Given the description of an element on the screen output the (x, y) to click on. 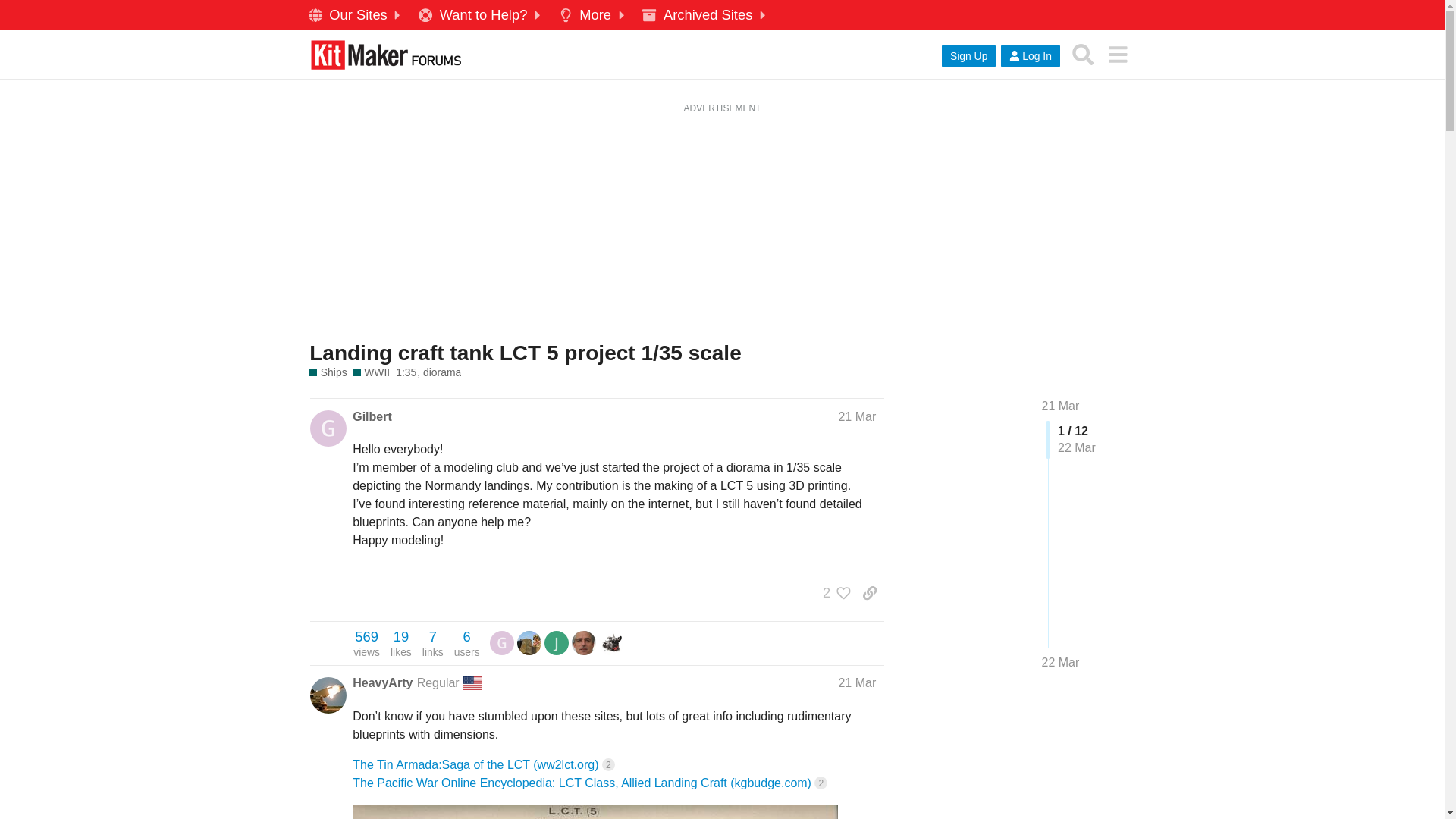
Want to Help? (481, 15)
More about KitMaker (593, 15)
Log In (1030, 56)
More (593, 15)
Become a supporter (481, 15)
Our content sites (356, 15)
Archived Sites (705, 15)
Sign Up (968, 56)
Our Sites (356, 15)
